Given the description of an element on the screen output the (x, y) to click on. 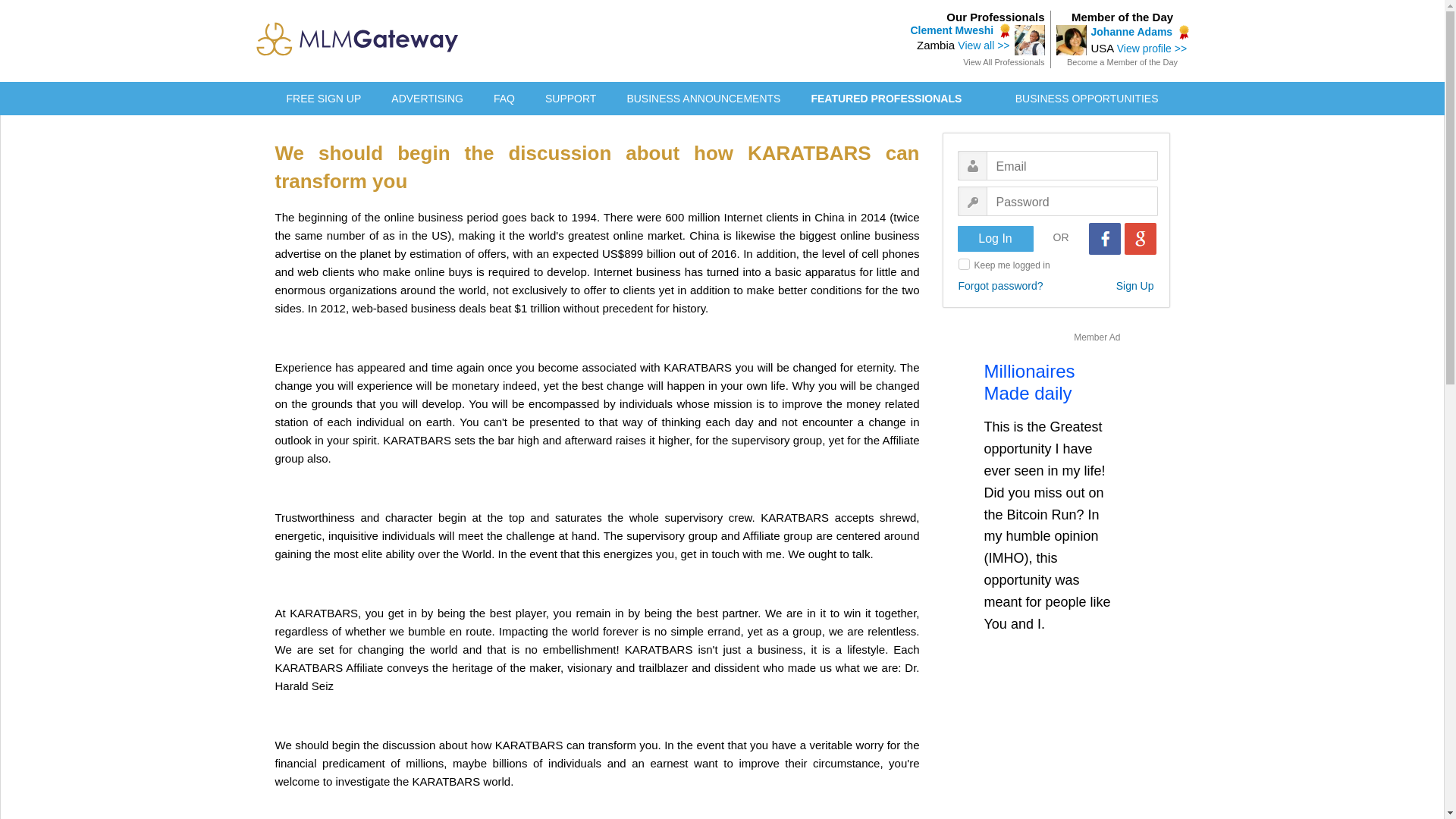
Forgot password? (1000, 285)
SUPPORT (569, 98)
Millionaires Made daily (1029, 382)
Johanne Adams (1131, 31)
Login with Facebook (1105, 238)
FEATURED PROFESSIONALS (885, 98)
Clement Mweshi (951, 30)
Become a Member of the Day (1122, 61)
BUSINESS OPPORTUNITIES (1086, 98)
MLM Gateway (358, 51)
View All Professionals (1002, 61)
ADVERTISING (427, 98)
Sign Up (1135, 285)
Log In (994, 238)
BUSINESS ANNOUNCEMENTS (703, 98)
